Given the description of an element on the screen output the (x, y) to click on. 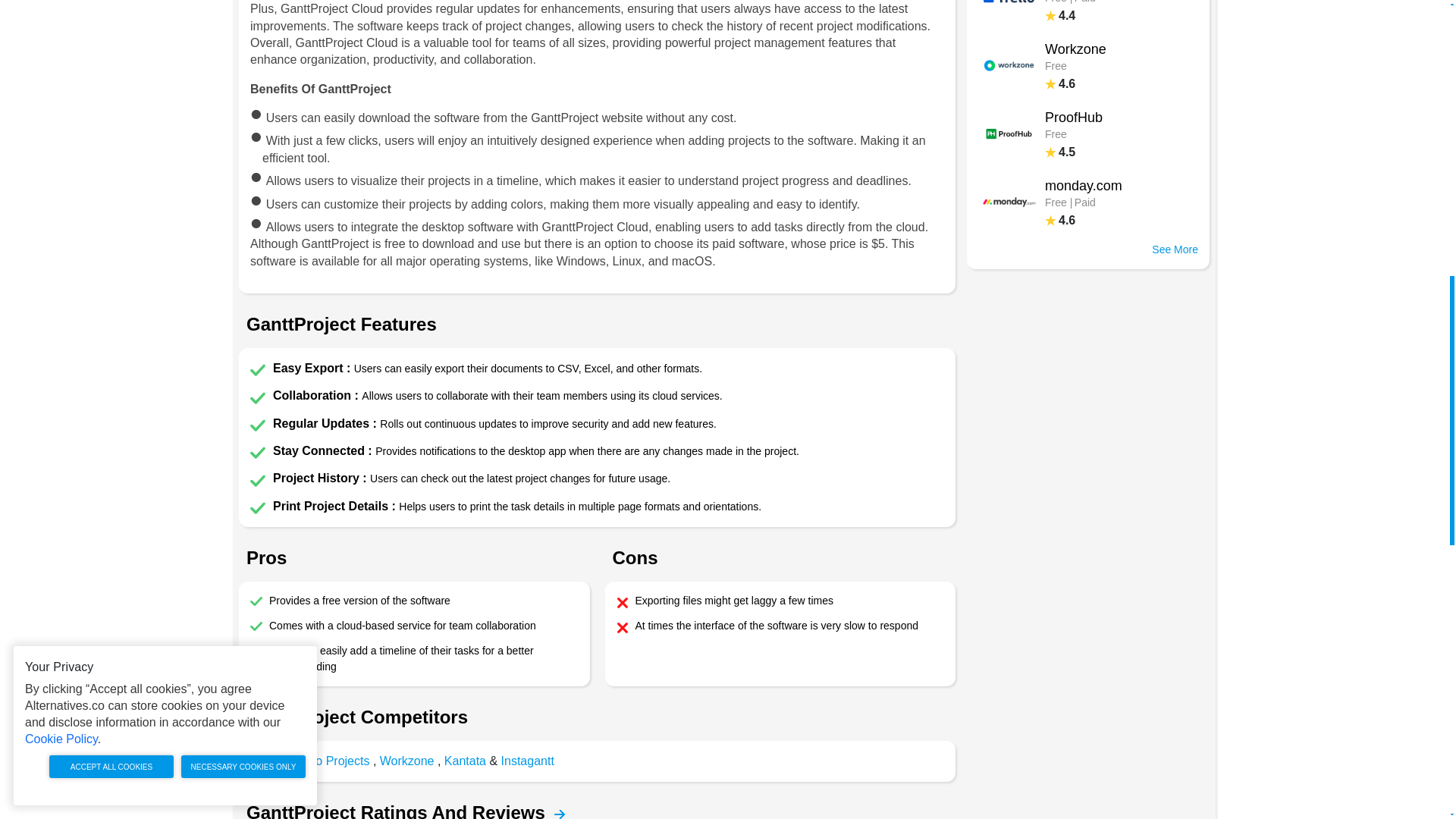
GanttProject Ratings And Reviews (559, 814)
GanttProject Features (1088, 65)
GanttProject Ratings and Reviews (257, 507)
GanttProject Features (554, 810)
Workzone (257, 452)
GanttProject Features (406, 760)
Instagantt (257, 397)
GanttProject Features (1088, 133)
GanttProject Features (527, 760)
See More (257, 480)
GanttProject Ratings And Reviews (257, 369)
Zoho Projects (1088, 249)
GanttProject Features (554, 810)
